Given the description of an element on the screen output the (x, y) to click on. 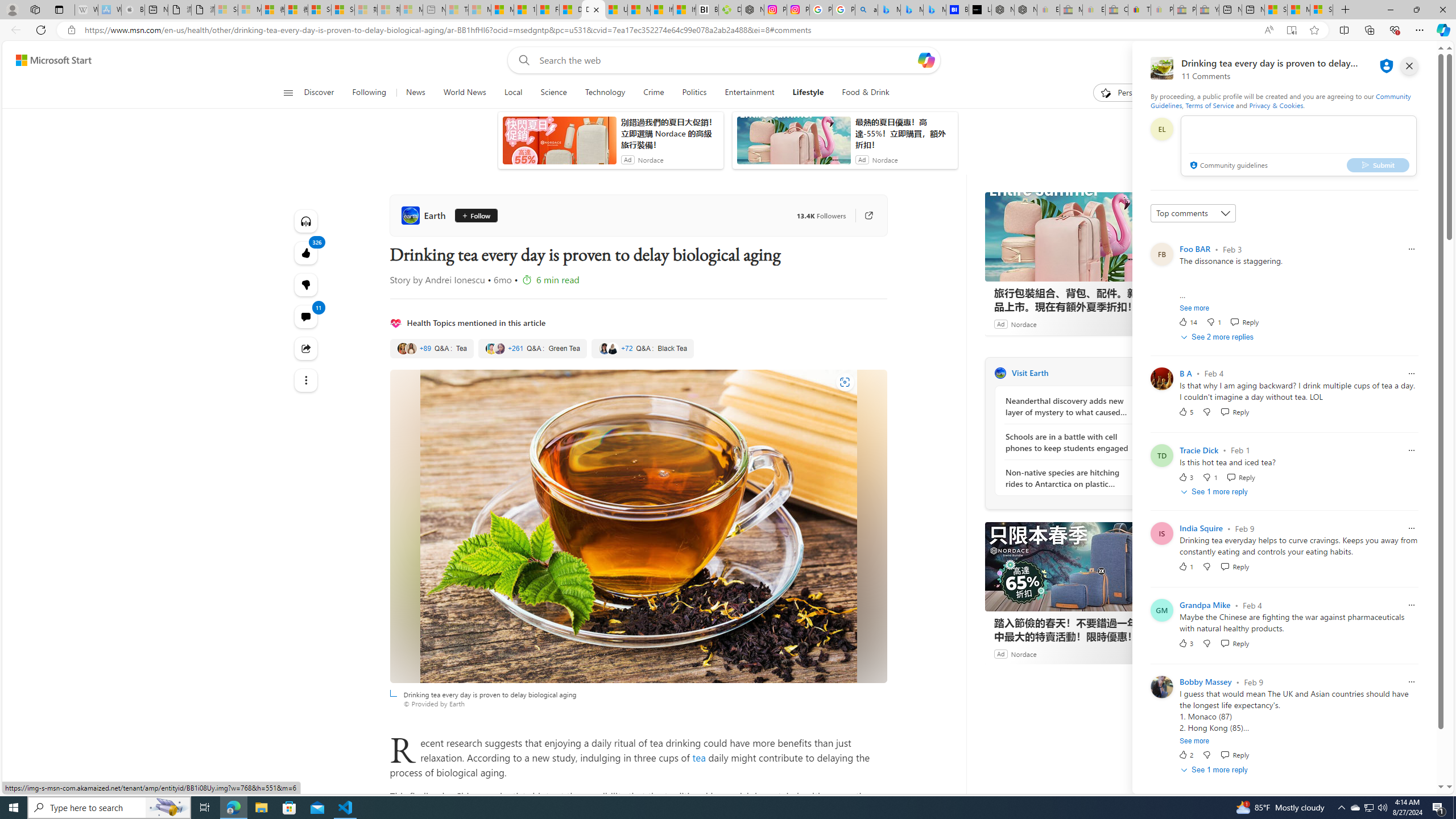
Profile Picture (1161, 686)
Feedback (1402, 784)
Restore (1416, 9)
Add this page to favorites (Ctrl+D) (1314, 29)
View comments 11 Comment (305, 316)
Enter your search term (726, 59)
US Heat Deaths Soared To Record High Last Year (615, 9)
comment-box (1298, 145)
Split screen (1344, 29)
Politics (694, 92)
Microsoft Start (1298, 9)
Microsoft account | Account Checkup - Sleeping (411, 9)
1 Like (1185, 566)
